Given the description of an element on the screen output the (x, y) to click on. 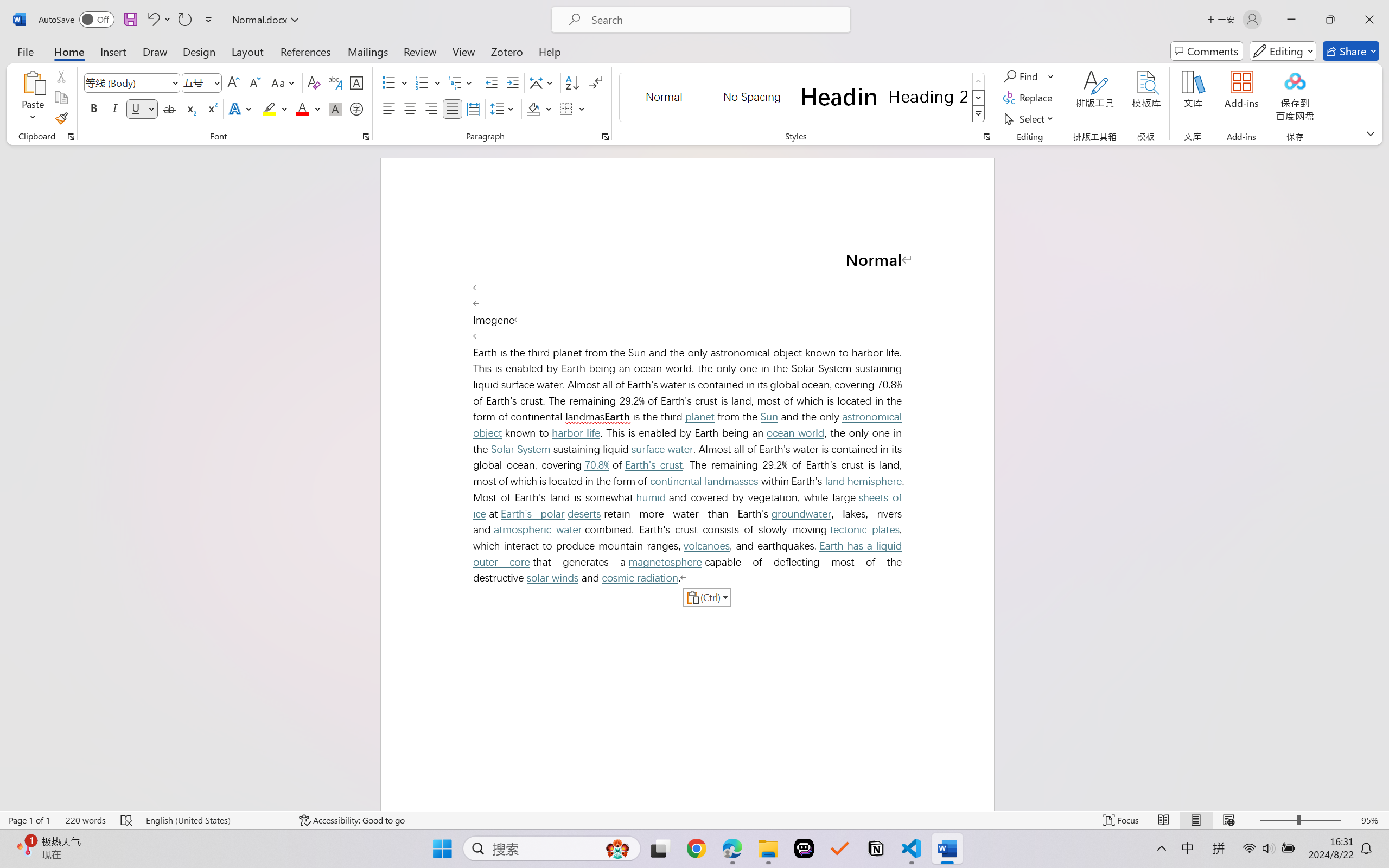
Help (549, 51)
land hemisphere (863, 480)
Spelling and Grammar Check Errors (126, 819)
ocean world (794, 433)
atmospheric water (537, 529)
humid (650, 497)
Shading (539, 108)
